Given the description of an element on the screen output the (x, y) to click on. 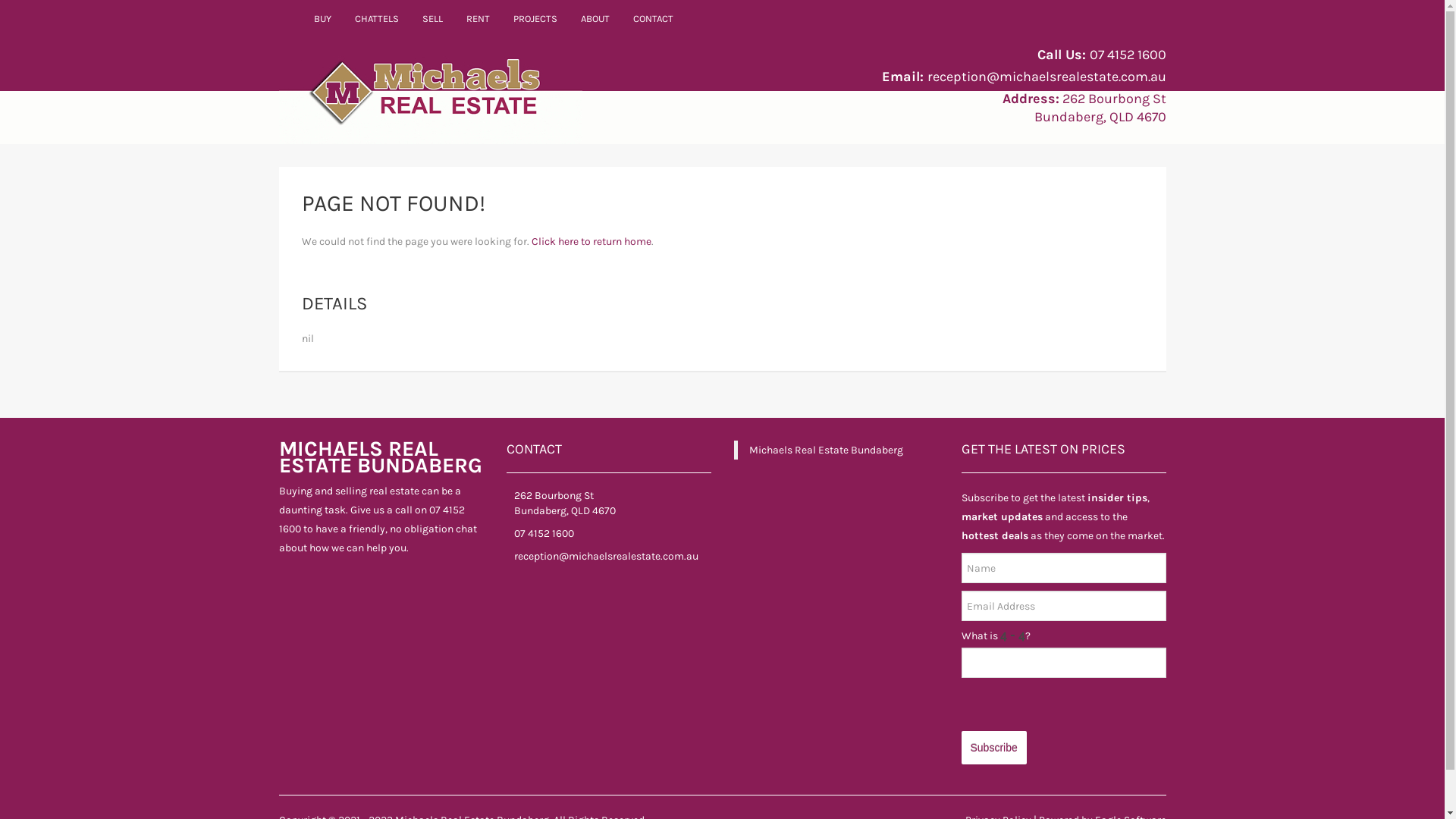
Michaels Real Estate Bundaberg Element type: text (826, 449)
reception@michaelsrealestate.com.au Element type: text (606, 555)
CHATTELS Element type: text (376, 18)
CONTACT Element type: text (653, 18)
ABOUT Element type: text (594, 18)
07 4152 1600 Element type: text (544, 533)
BUY Element type: text (321, 18)
PROJECTS Element type: text (535, 18)
Click here to return home Element type: text (590, 241)
07 4152 1600 Element type: text (1126, 54)
RENT Element type: text (478, 18)
SELL Element type: text (433, 18)
reception@michaelsrealestate.com.au Element type: text (1045, 76)
Subscribe Element type: text (993, 747)
